Given the description of an element on the screen output the (x, y) to click on. 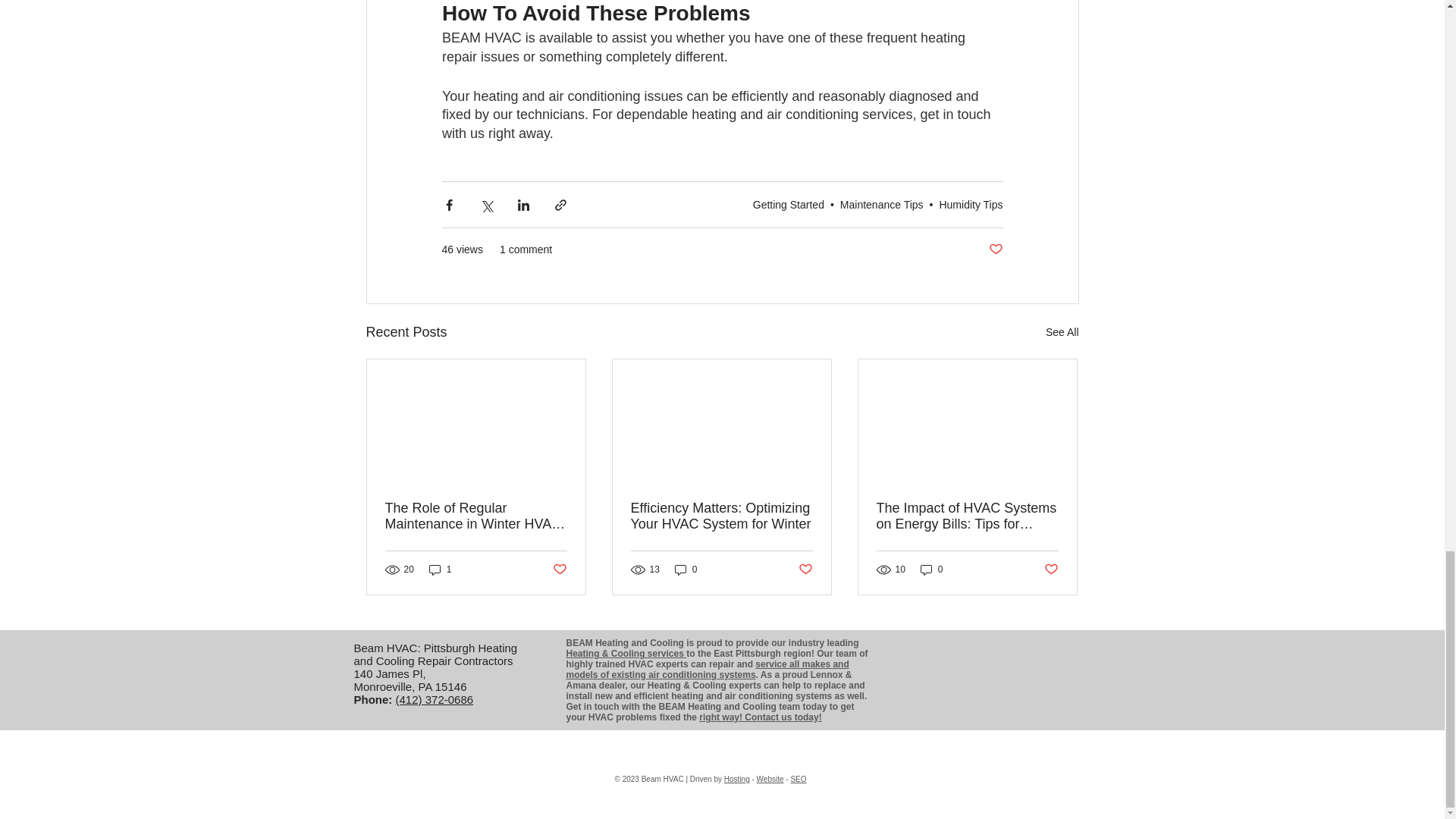
See All (1061, 332)
Post not marked as liked (1050, 569)
Post not marked as liked (995, 249)
The Role of Regular Maintenance in Winter HVAC Performance (476, 516)
Efficiency Matters: Optimizing Your HVAC System for Winter (721, 516)
Humidity Tips (971, 204)
0 (685, 569)
0 (931, 569)
Post not marked as liked (558, 569)
